Given the description of an element on the screen output the (x, y) to click on. 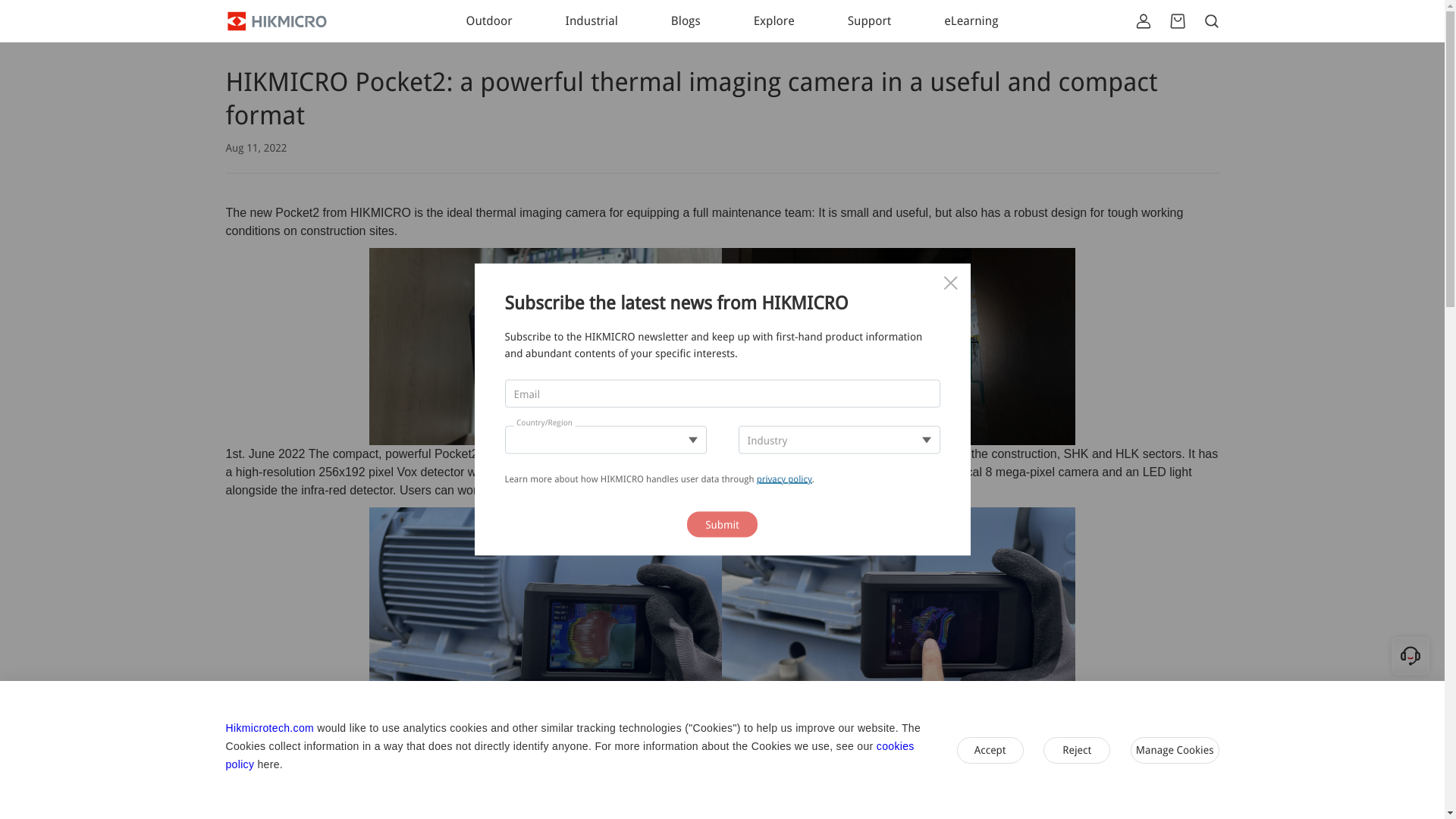
Outdoor (488, 20)
